Given the description of an element on the screen output the (x, y) to click on. 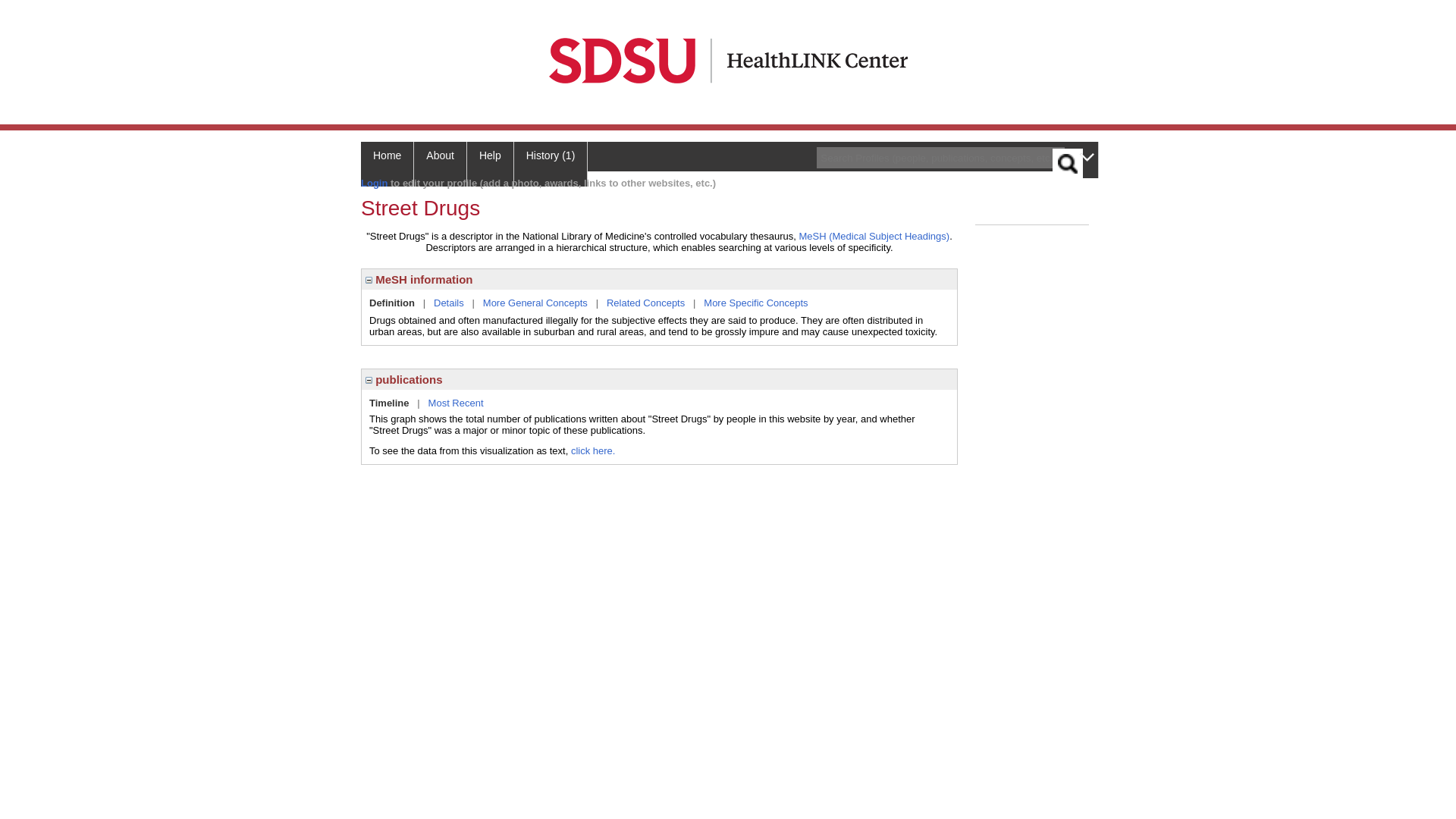
Help (490, 163)
More General Concepts (535, 302)
Details (448, 302)
Login (374, 183)
Related Concepts (645, 302)
About (440, 163)
Home (387, 163)
Definition (391, 302)
More Specific Concepts (755, 302)
